Given the description of an element on the screen output the (x, y) to click on. 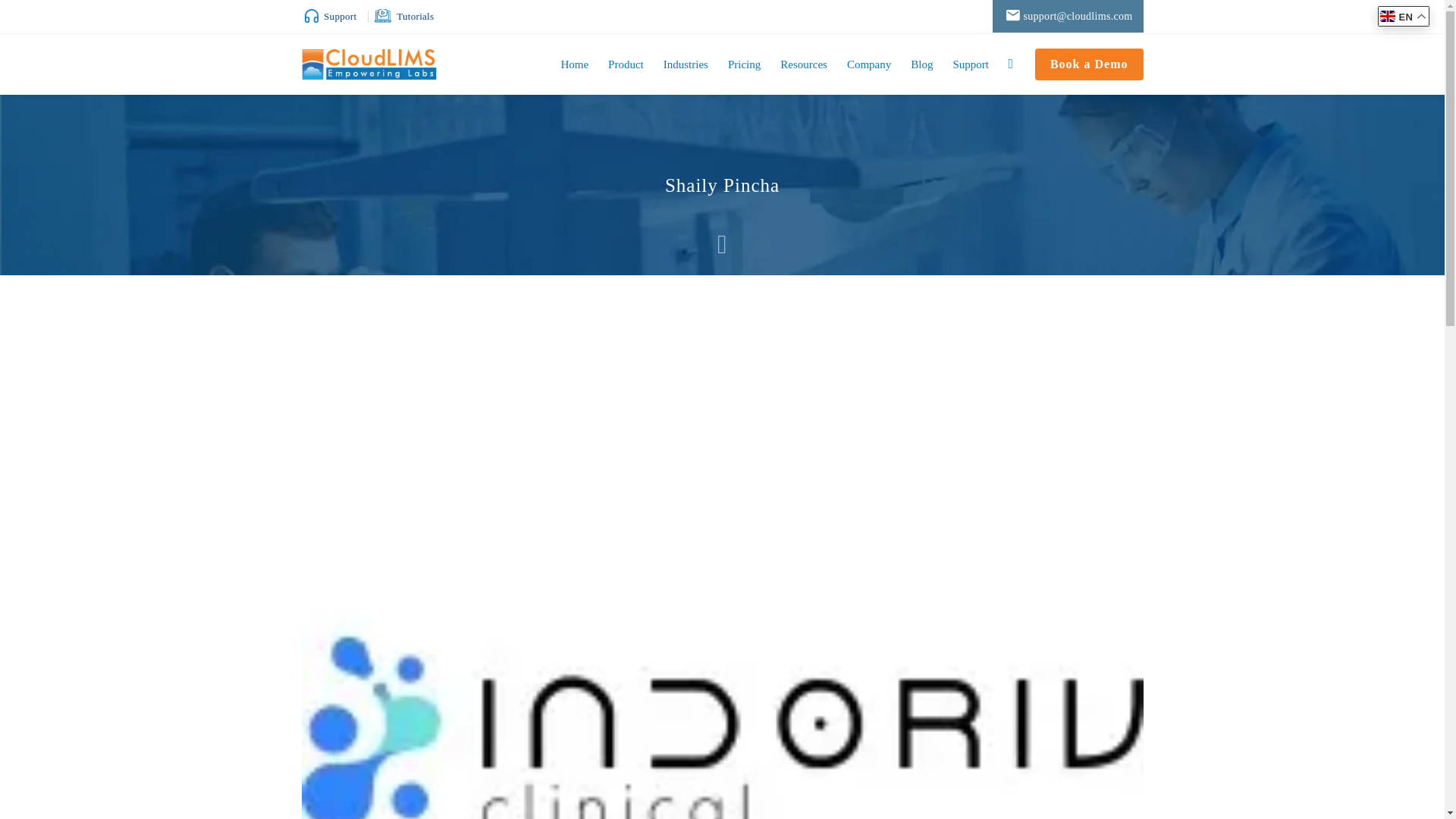
Tutorials (408, 16)
Company (869, 64)
Support (335, 16)
Industries (685, 64)
Product (625, 64)
Resources (803, 64)
